Given the description of an element on the screen output the (x, y) to click on. 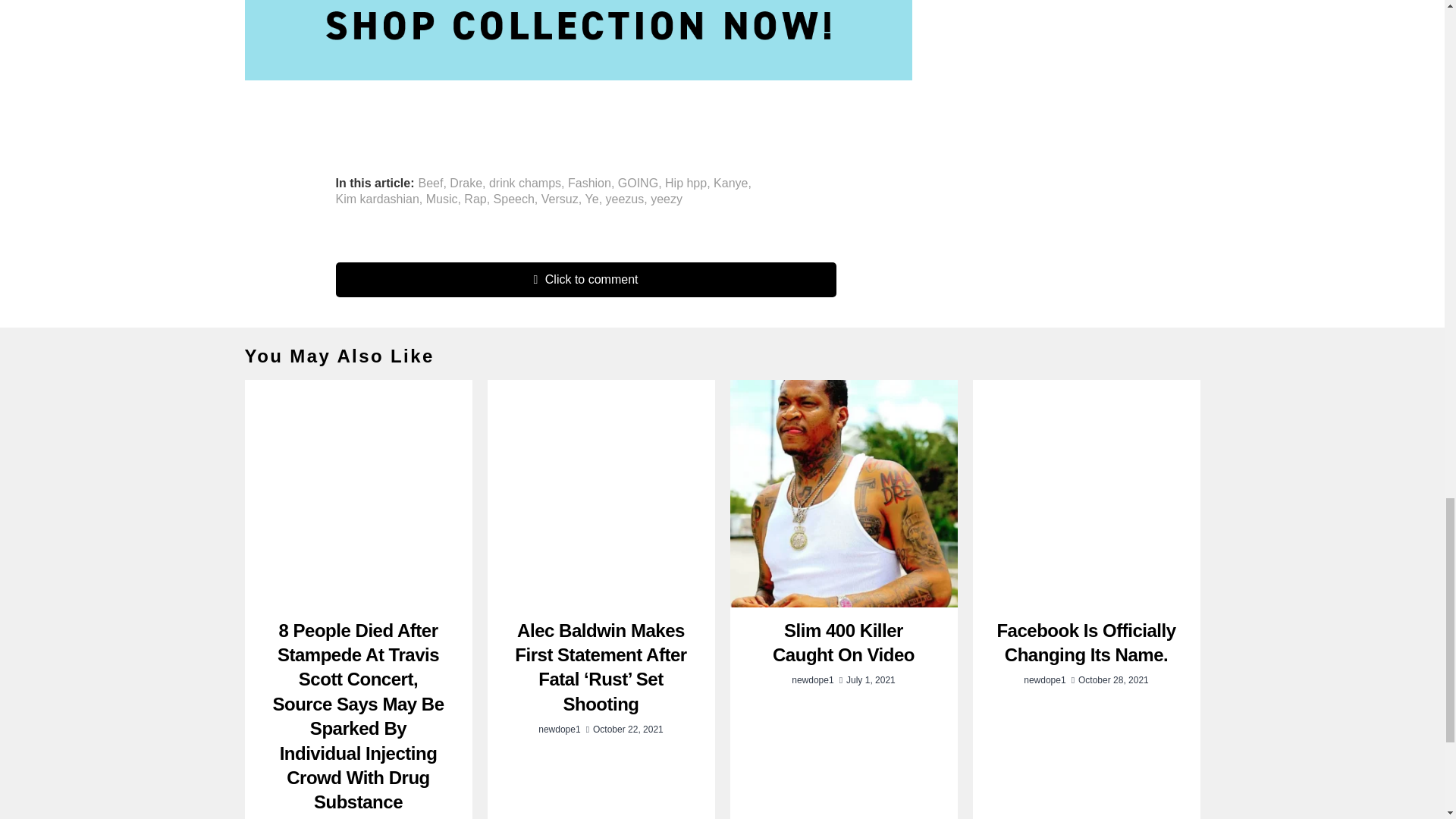
Posts by newdope1 (558, 728)
Posts by newdope1 (1044, 679)
Posts by newdope1 (812, 679)
